Given the description of an element on the screen output the (x, y) to click on. 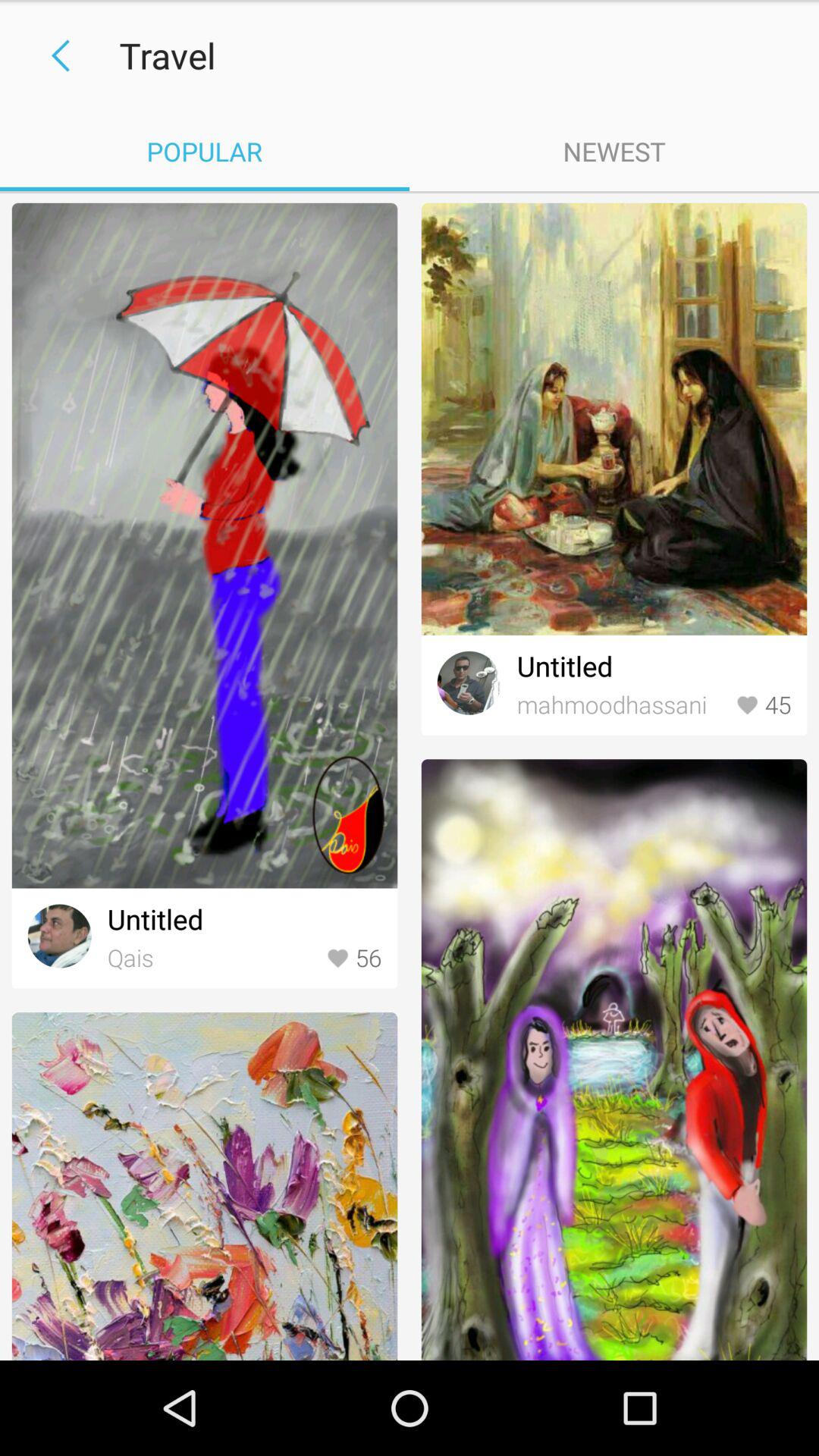
tap the 56 icon (353, 958)
